Given the description of an element on the screen output the (x, y) to click on. 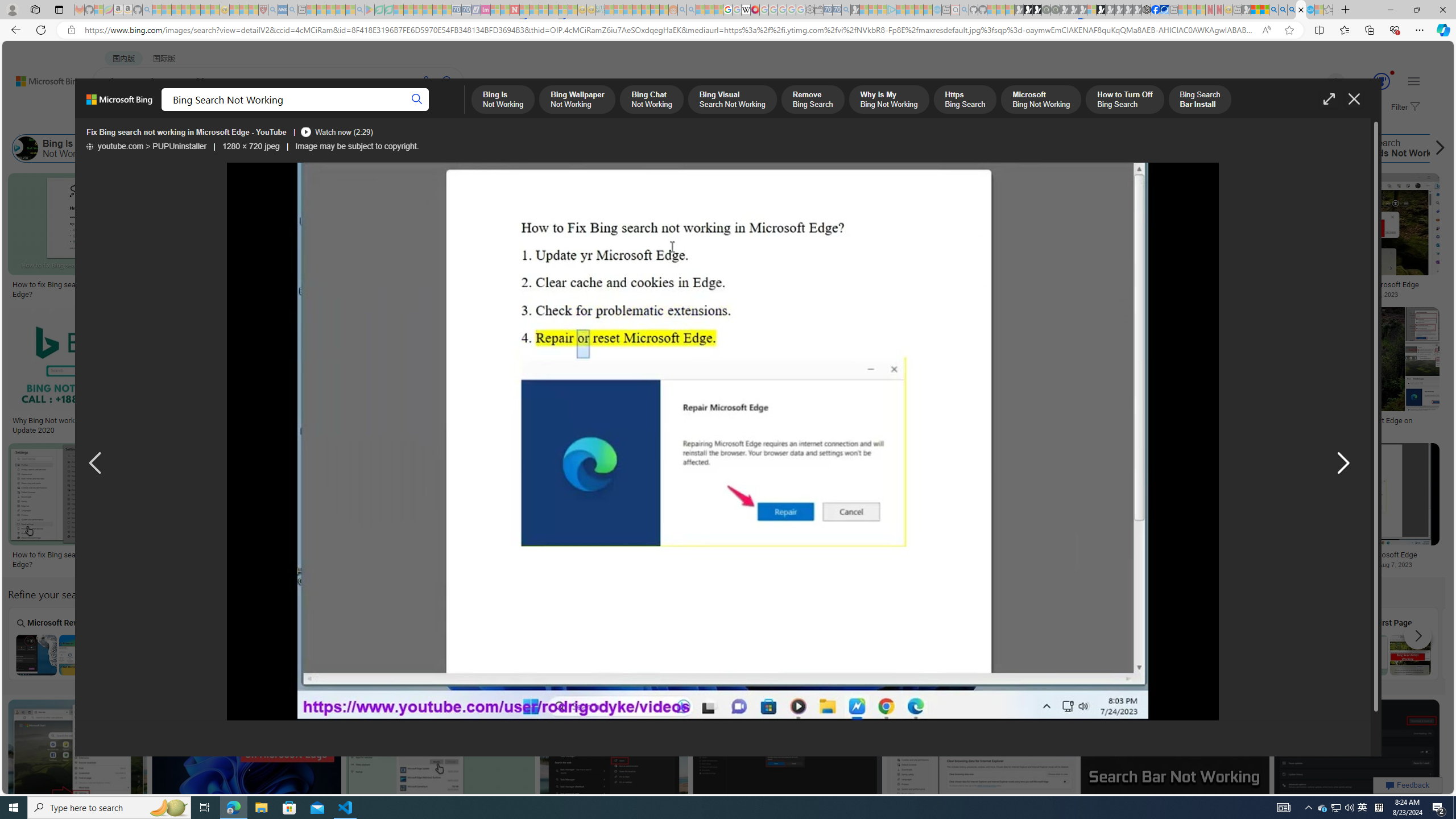
Fix Bing Search Not Working in Microsoft Edge (6 Easy Ways) (468, 289)
MediaWiki (754, 9)
Image result for Bing Search Not Working (1356, 751)
Pets - MSN - Sleeping (340, 9)
Latest Politics News & Archive | Newsweek.com - Sleeping (514, 9)
Bing Video Search Not Working Video (877, 643)
Microsoft Rewards (56, 643)
1:19 (170, 709)
